Given the description of an element on the screen output the (x, y) to click on. 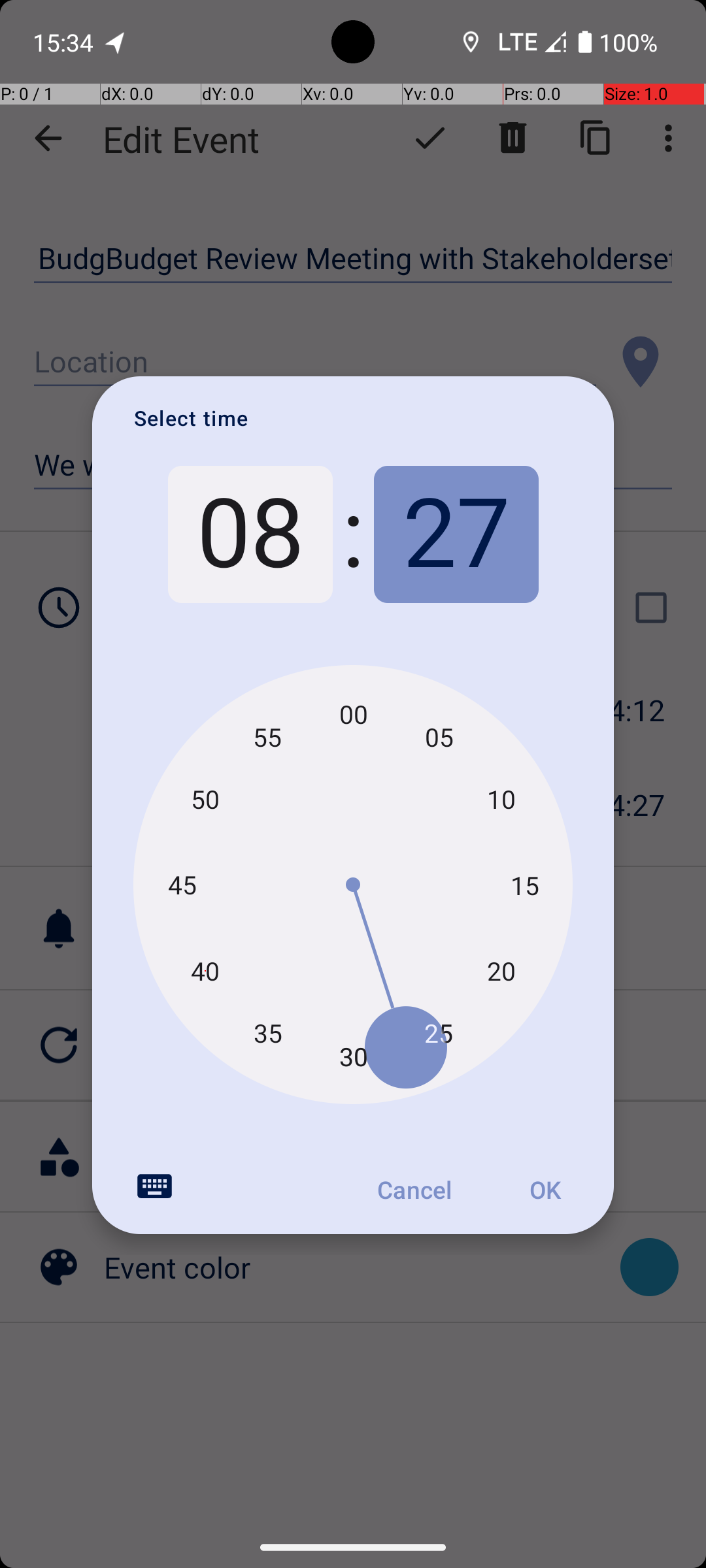
08 Element type: android.view.View (250, 534)
